Given the description of an element on the screen output the (x, y) to click on. 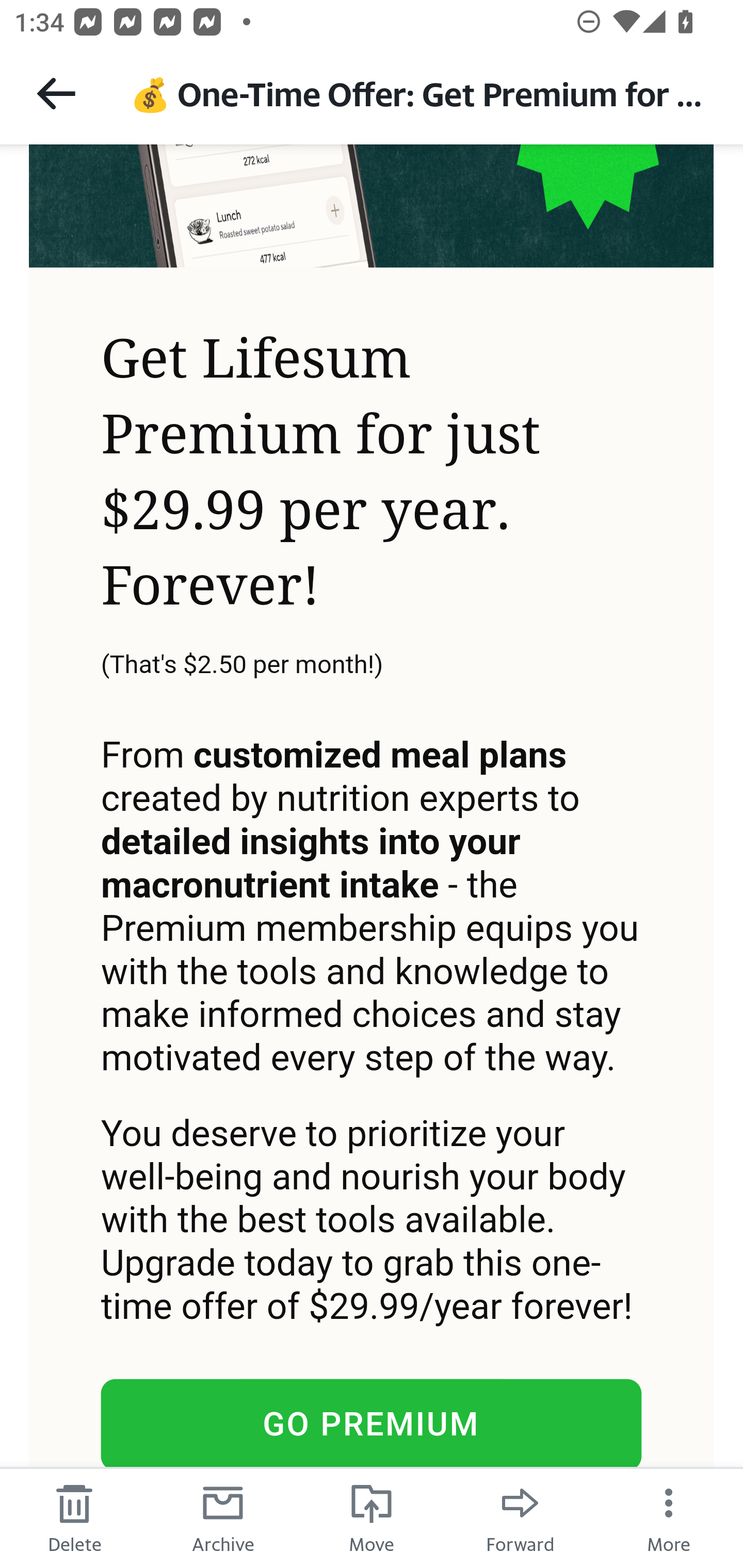
Back (55, 92)
GO PREMIUM (371, 1423)
Delete (74, 1517)
Archive (222, 1517)
Move (371, 1517)
Forward (519, 1517)
More (668, 1517)
